Given the description of an element on the screen output the (x, y) to click on. 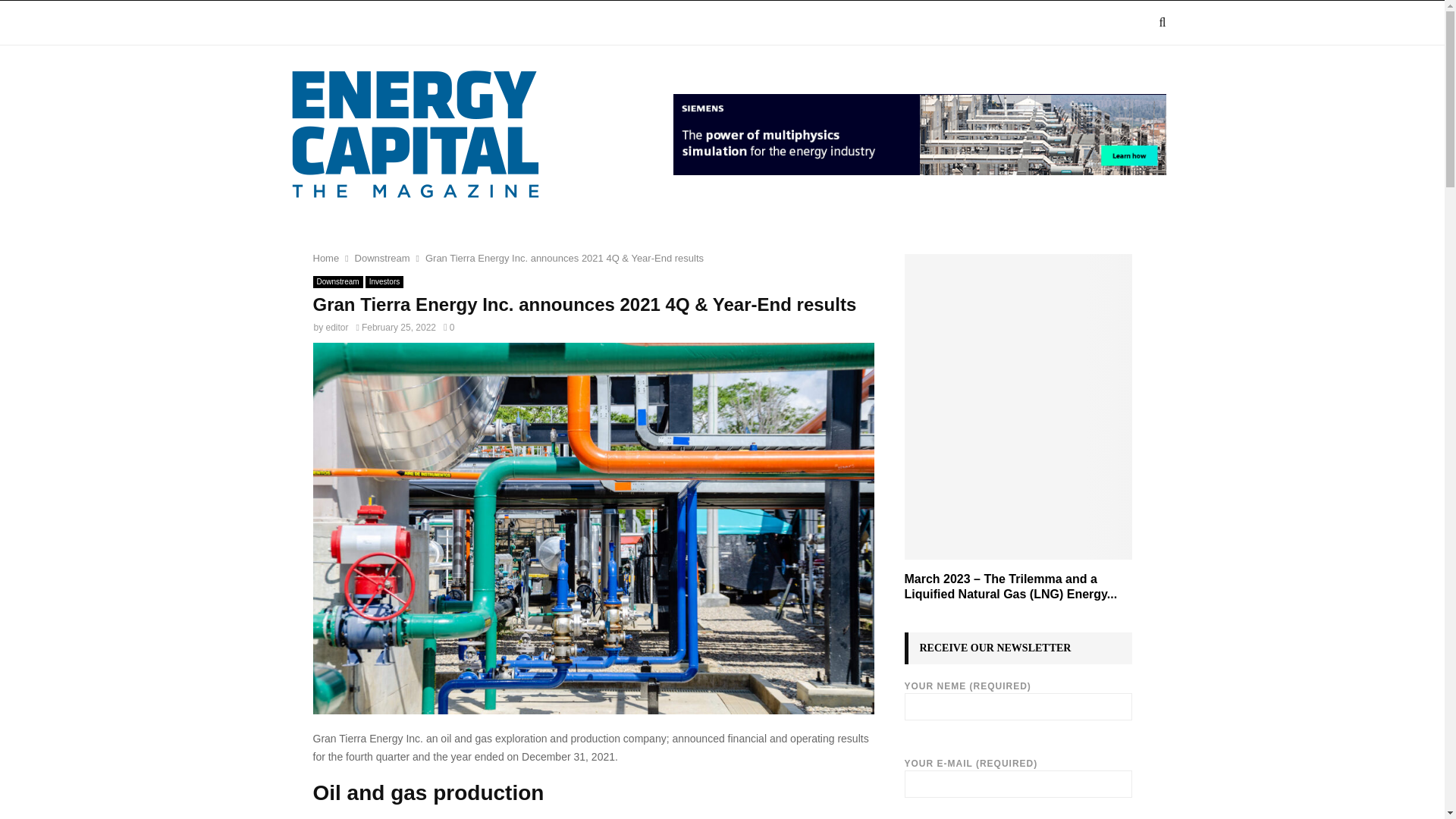
MAGAZINE (383, 22)
SECTORS (474, 22)
HOME (308, 22)
